Given the description of an element on the screen output the (x, y) to click on. 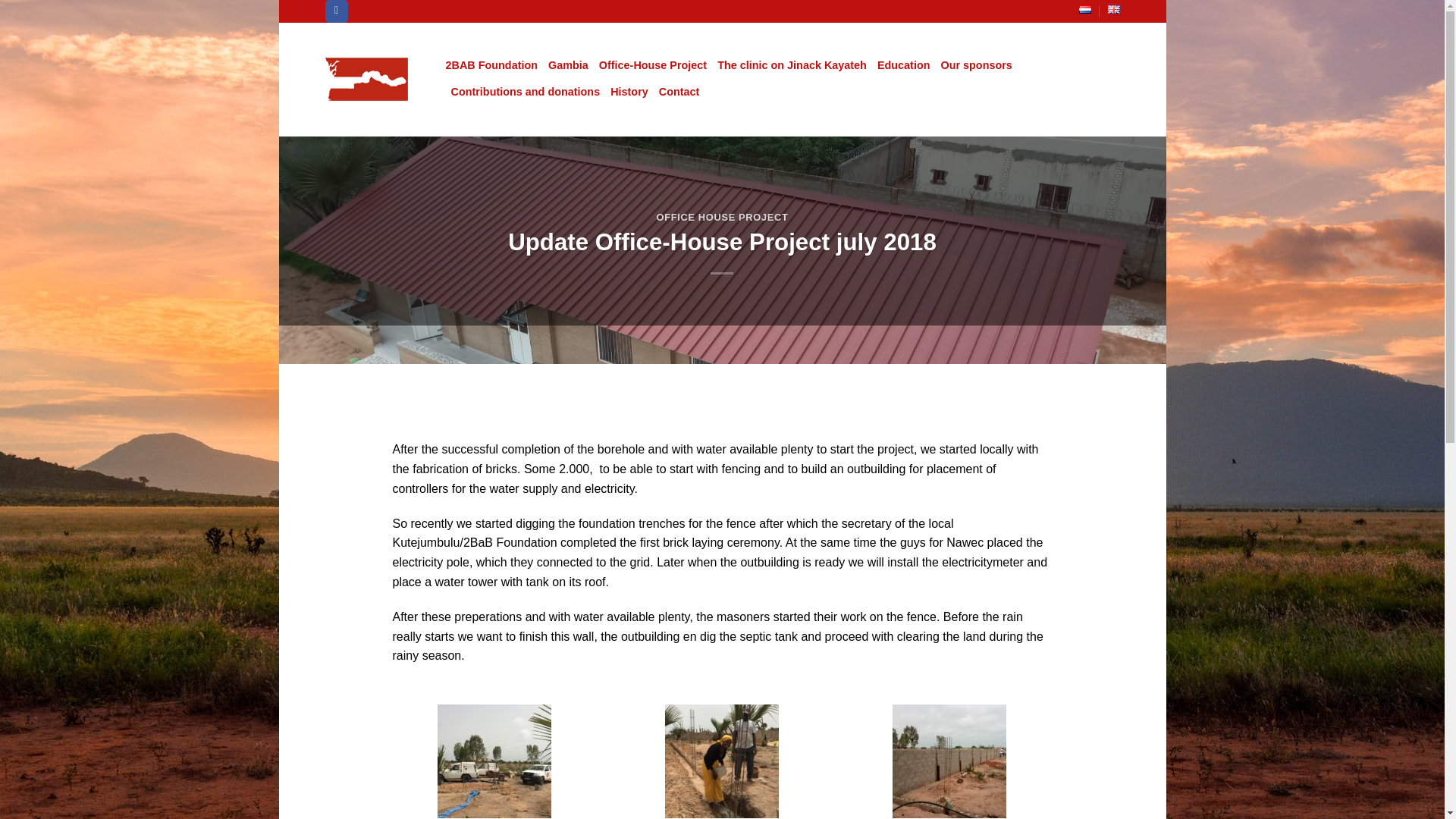
Gambia (568, 65)
OFFICE HOUSE PROJECT (722, 216)
Contributions and donations (524, 91)
The clinic on Jinack Kayateh (791, 65)
Office-House Project (652, 65)
History (628, 91)
Stichting 2BAB Foundation - 2BAB (373, 78)
2BAB Foundation (491, 65)
Follow on Facebook (335, 11)
Contact (679, 91)
